Given the description of an element on the screen output the (x, y) to click on. 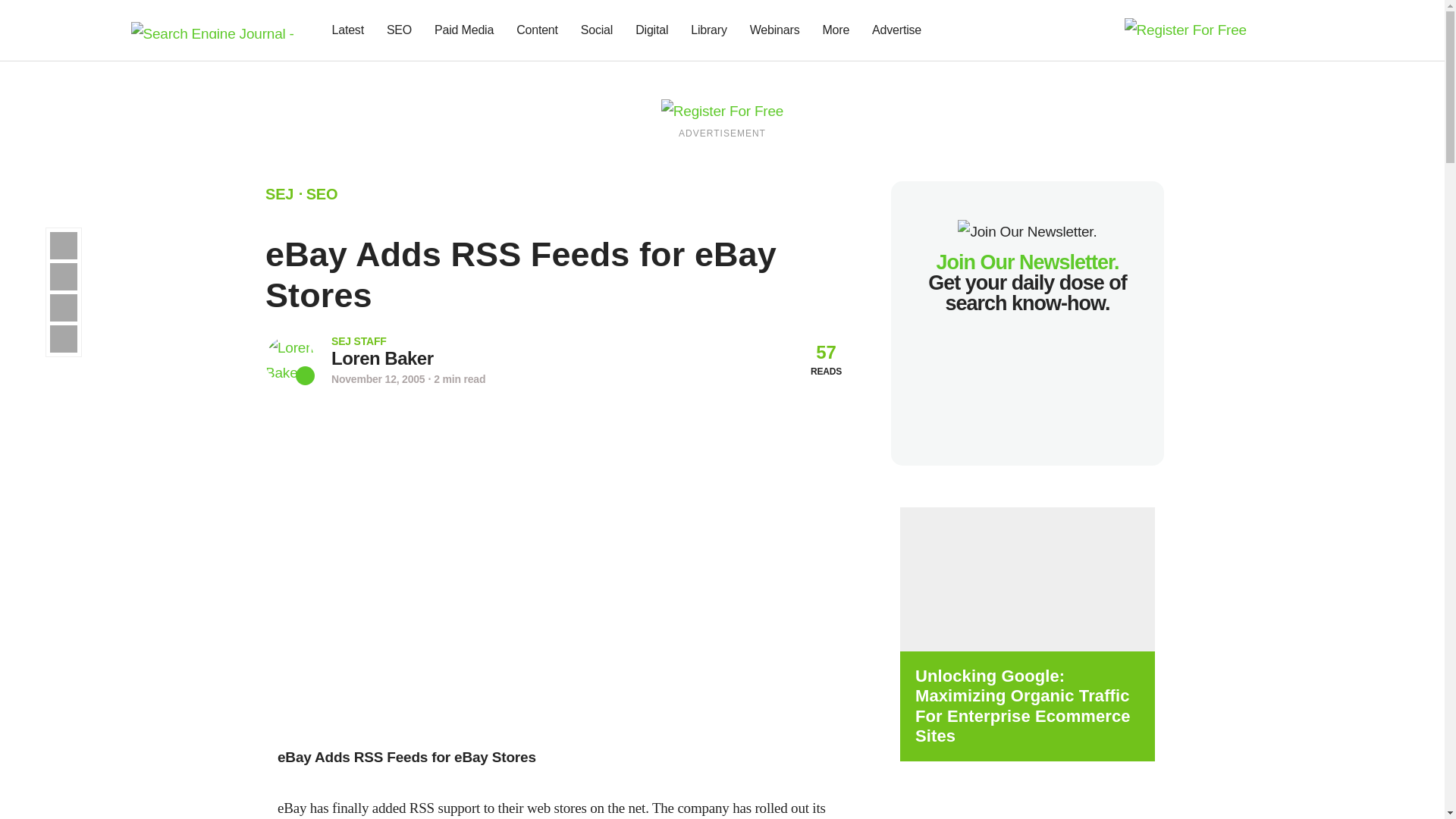
Register For Free (1185, 28)
Go to Author Page (382, 358)
Go to Author Page (289, 359)
Register For Free (722, 109)
Subscribe to our Newsletter (1277, 30)
Latest (347, 30)
Paid Media (464, 30)
